Given the description of an element on the screen output the (x, y) to click on. 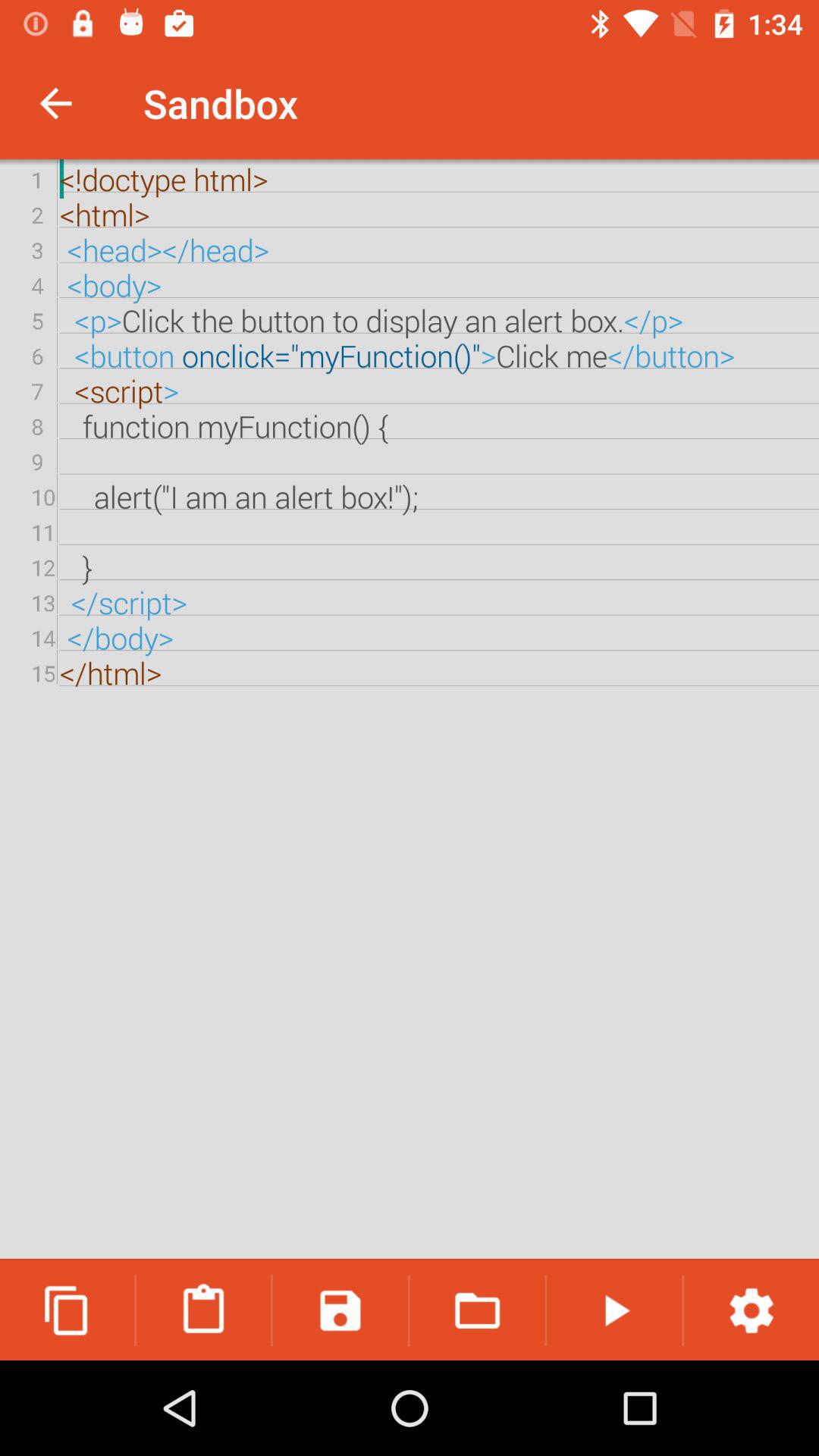
open icon below doctype html html item (477, 1310)
